Given the description of an element on the screen output the (x, y) to click on. 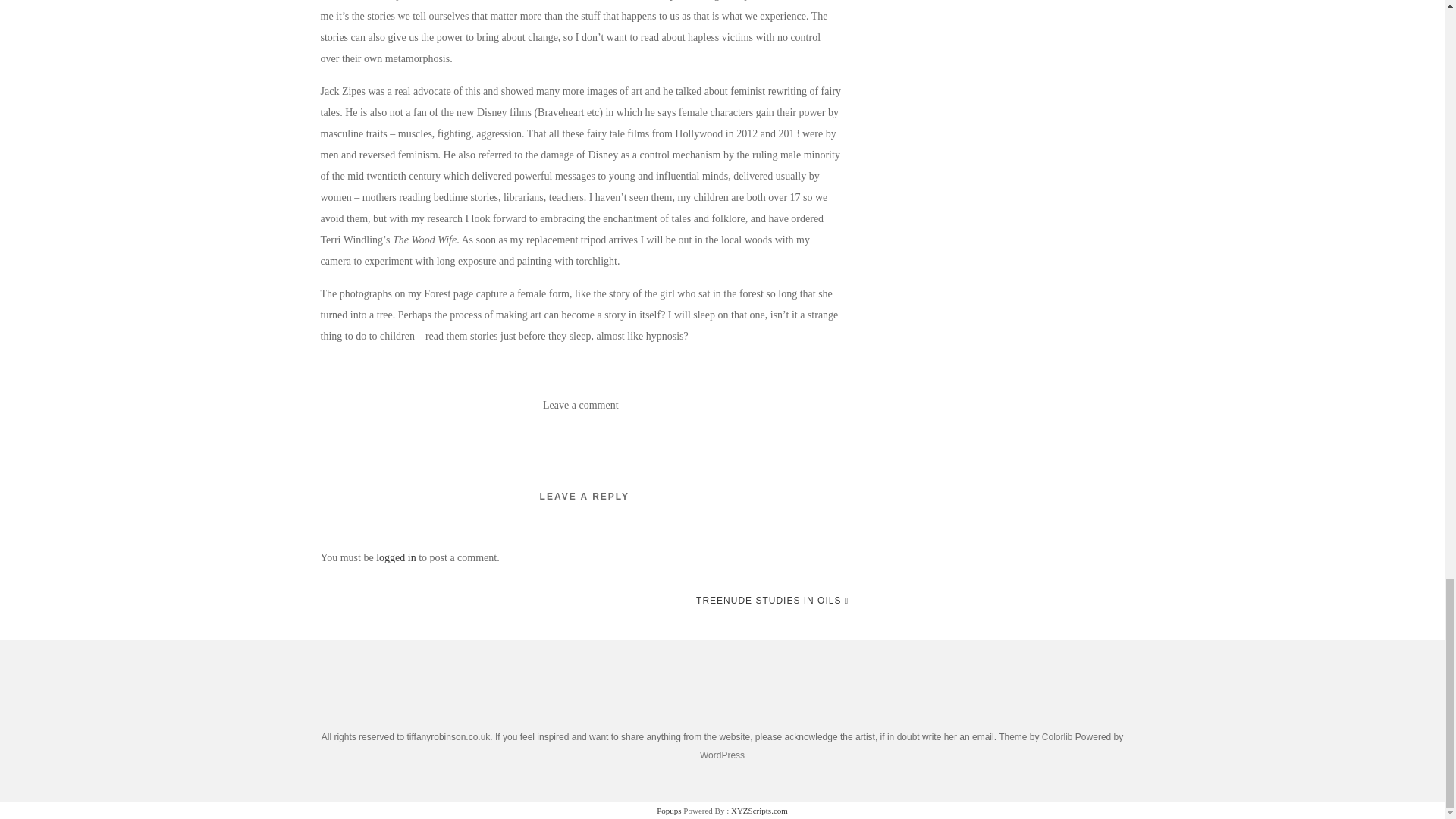
Leave a comment (580, 405)
logged in (395, 557)
TREENUDE STUDIES IN OILS (771, 600)
